Given the description of an element on the screen output the (x, y) to click on. 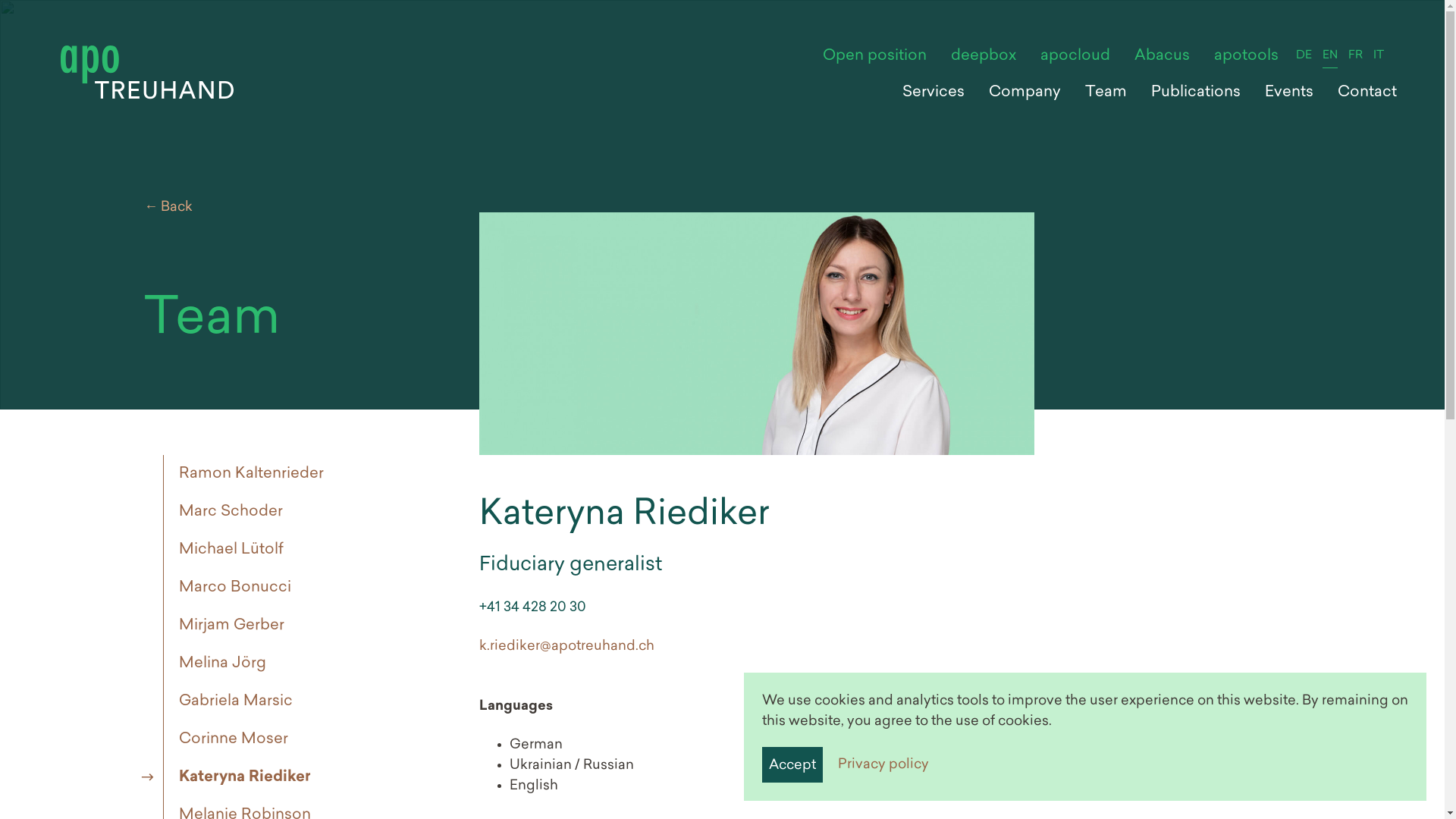
Back Element type: text (763, 207)
Privacy policy Element type: text (882, 764)
IT Element type: text (1378, 55)
Publications Element type: text (1195, 92)
Open position Element type: text (874, 55)
Marc Schoder Element type: text (226, 511)
DE Element type: text (1303, 55)
apotools Element type: text (1245, 55)
Marco Bonucci Element type: text (230, 587)
Services Element type: text (933, 92)
EN Element type: text (1330, 55)
Ramon Kaltenrieder Element type: text (247, 473)
Abacus Element type: text (1161, 55)
apocloud Element type: text (1075, 55)
Team Element type: text (1106, 92)
Contact Element type: text (1366, 92)
Gabriela Marsic Element type: text (231, 701)
Company Element type: text (1024, 92)
Accept Element type: text (792, 764)
FR Element type: text (1355, 55)
Corinne Moser Element type: text (229, 739)
deepbox Element type: text (983, 55)
Events Element type: text (1288, 92)
Kateryna Riediker Element type: text (240, 777)
Mirjam Gerber Element type: text (227, 625)
k.riediker@apotreuhand.ch Element type: text (566, 646)
